Given the description of an element on the screen output the (x, y) to click on. 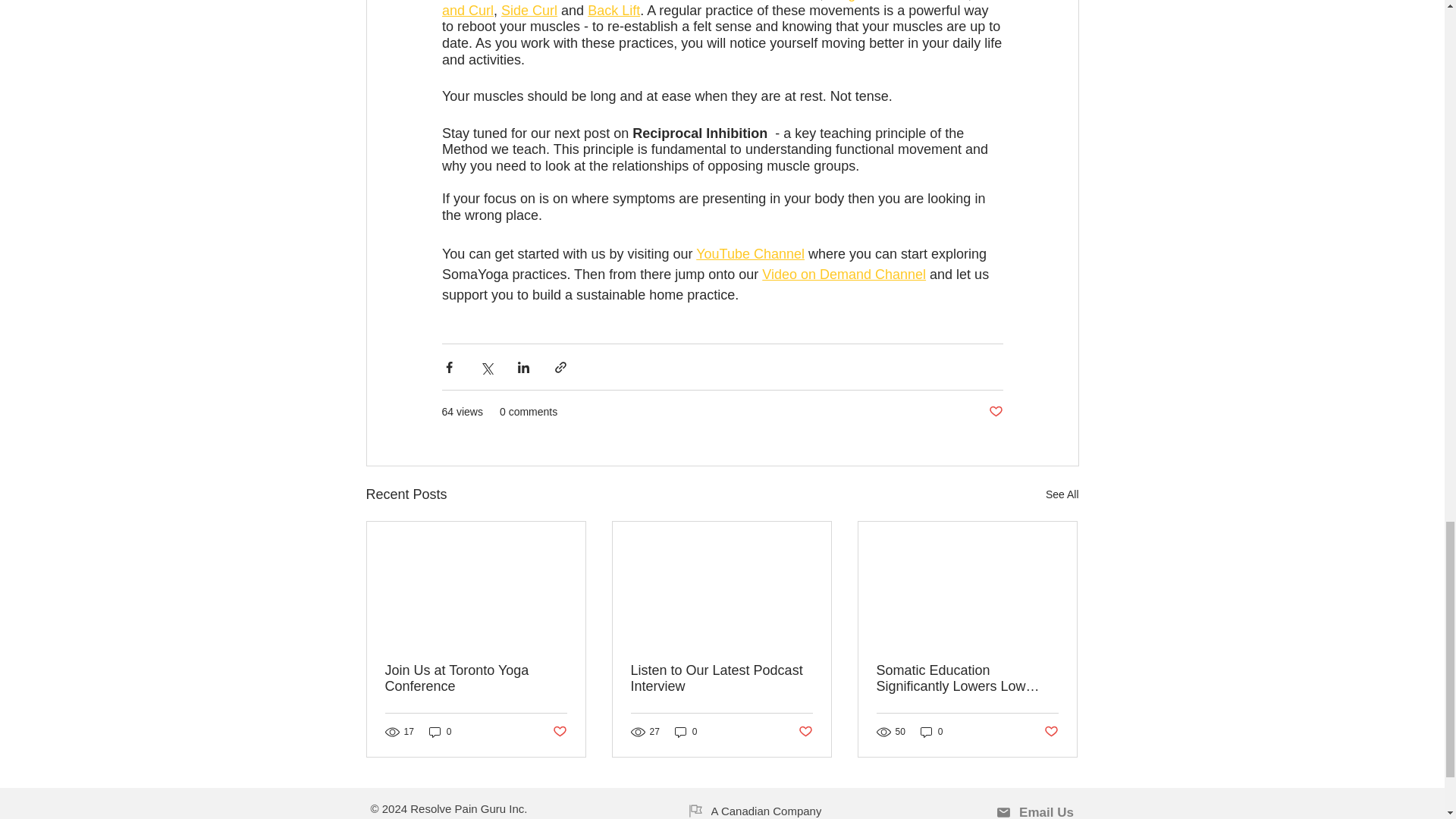
Arch and Flatten (769, 0)
YouTube Channel (750, 253)
Side Curl (528, 10)
Back Lift (614, 10)
Arch and Curl (723, 9)
Diagonal Arch and Curl (897, 0)
Video on Demand Channel (843, 273)
